Given the description of an element on the screen output the (x, y) to click on. 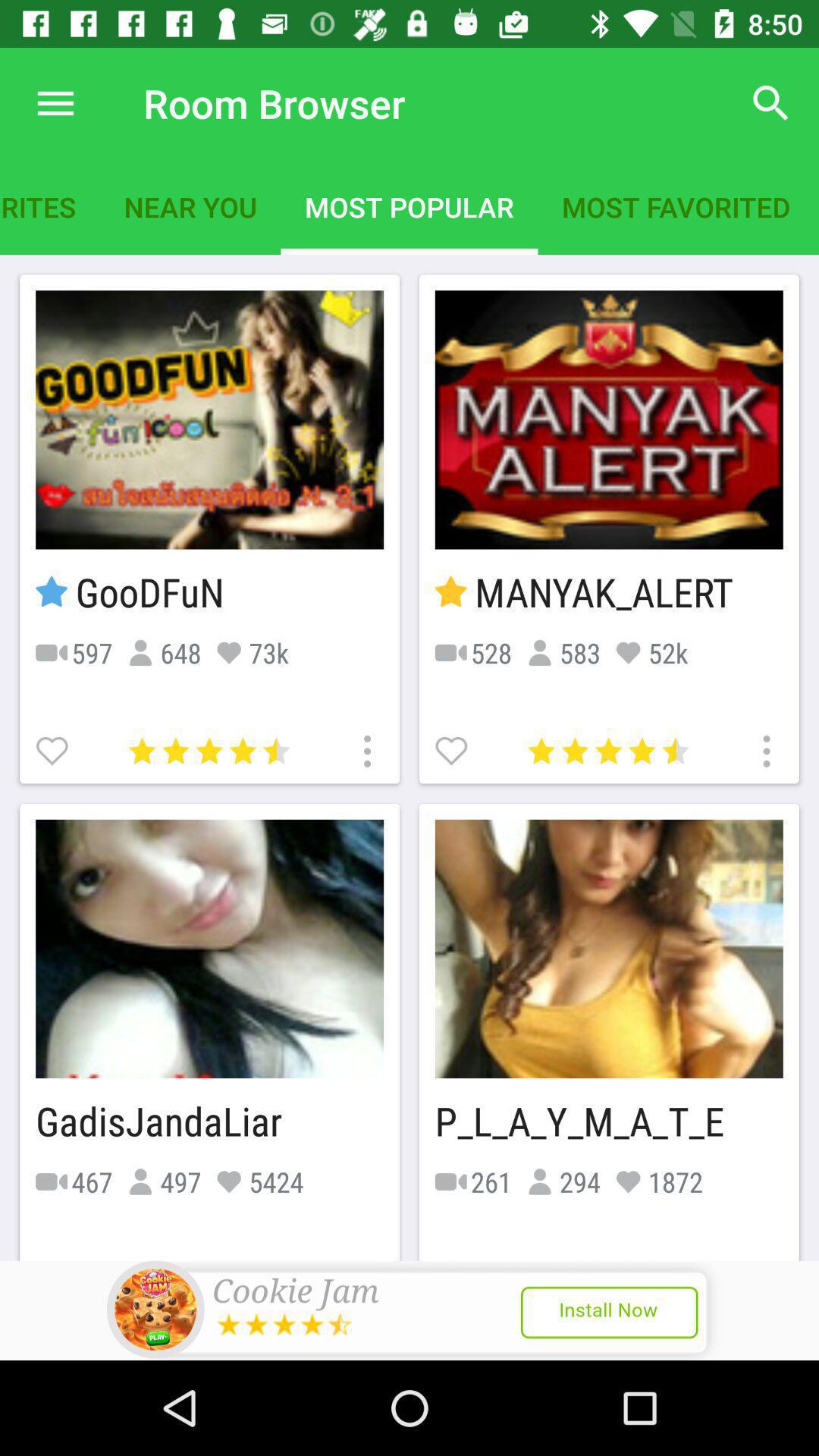
add roon to favorites (453, 749)
